Given the description of an element on the screen output the (x, y) to click on. 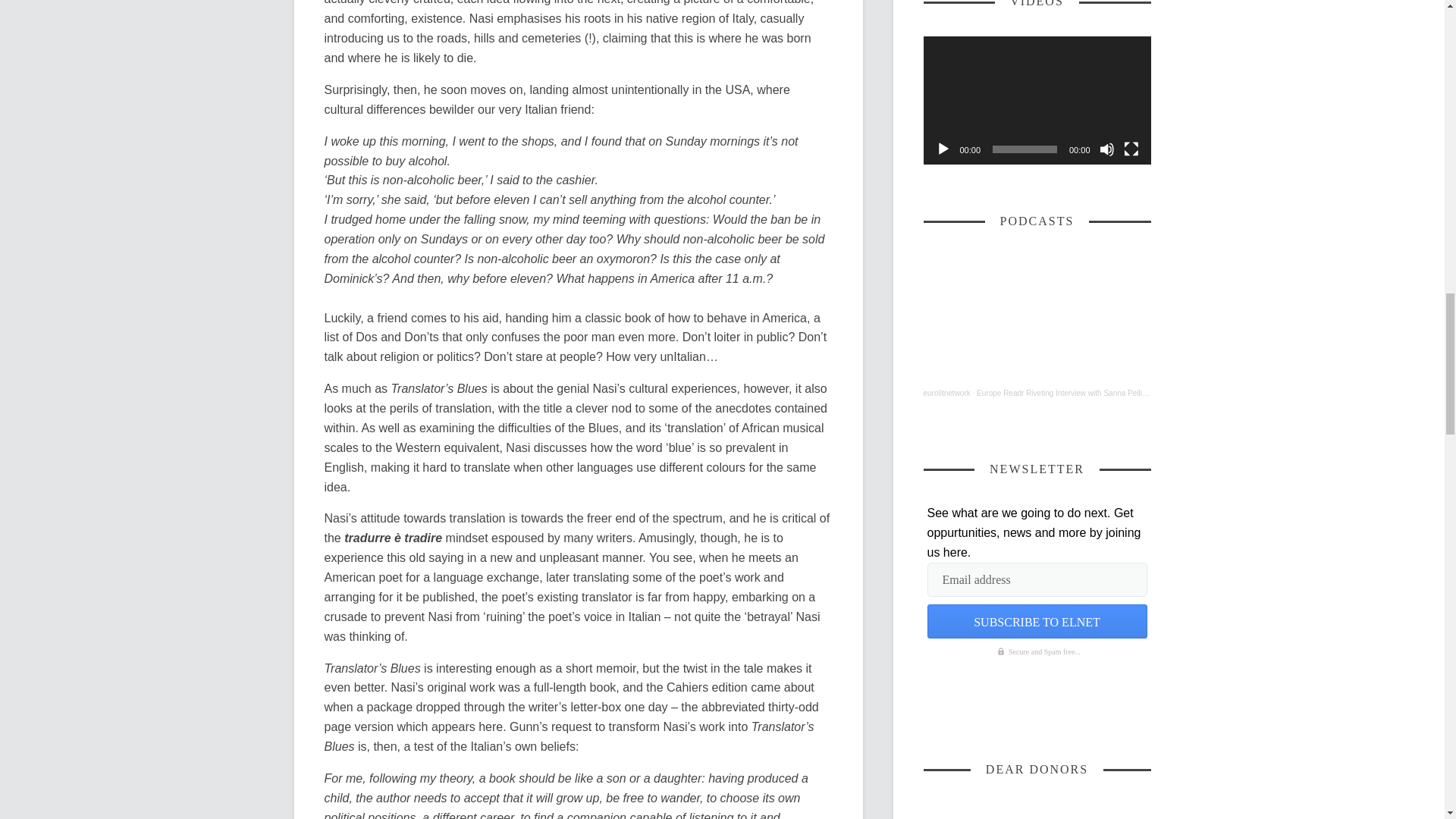
Mute (1107, 149)
Play (943, 149)
Europe Readr Riveting Interview with Sanna Pelliccioni (1068, 393)
eurolitnetwork (947, 393)
Fullscreen (1131, 149)
